Given the description of an element on the screen output the (x, y) to click on. 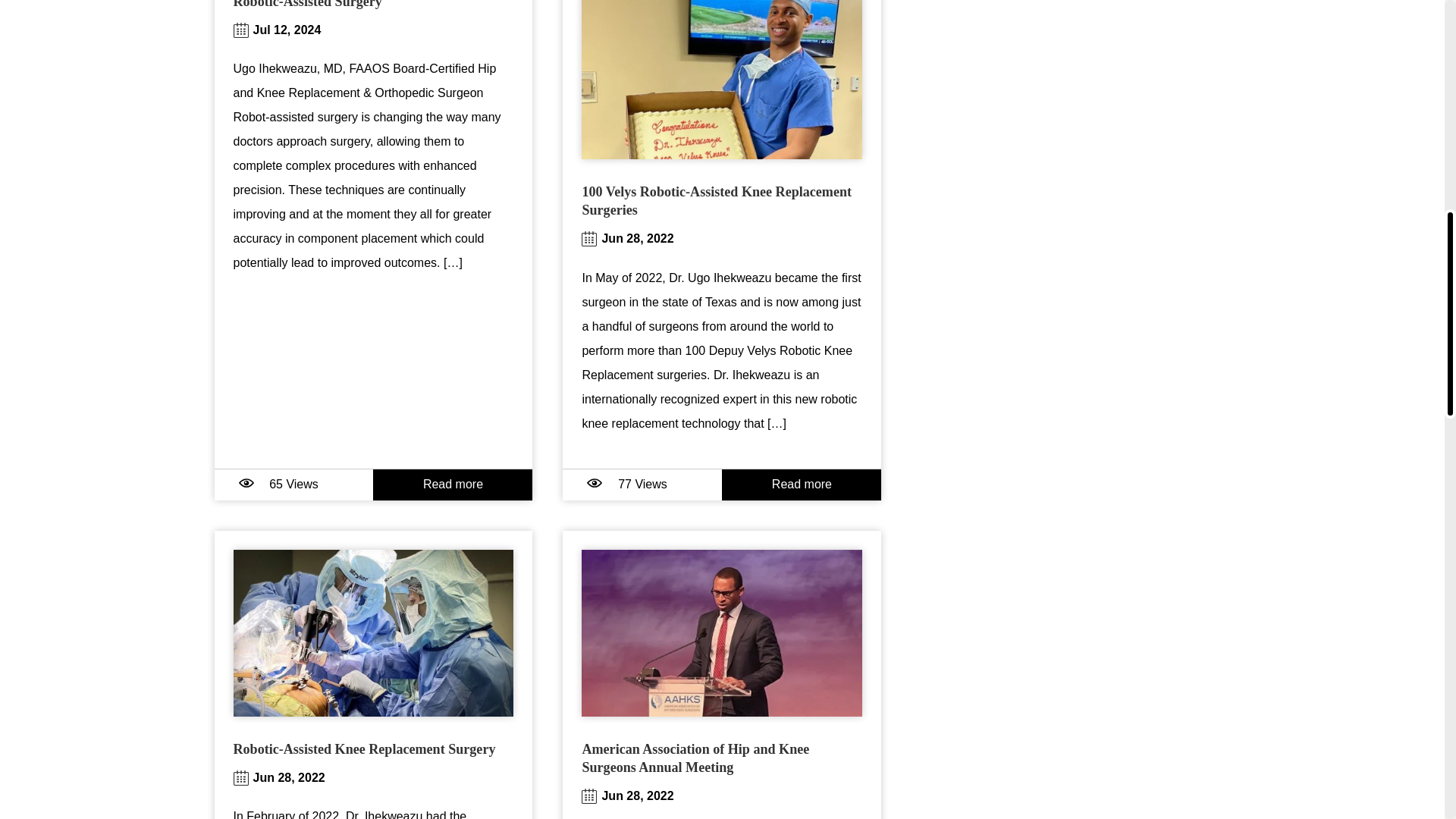
Robotic-Assisted Surgery (306, 4)
Read more (452, 484)
100 Velys Robotic-Assisted Knee Replacement Surgeries (715, 200)
Read more (801, 484)
American Association of Hip and Knee Surgeons Annual Meeting (694, 758)
Robotic-Assisted Knee Replacement Surgery (364, 749)
